Given the description of an element on the screen output the (x, y) to click on. 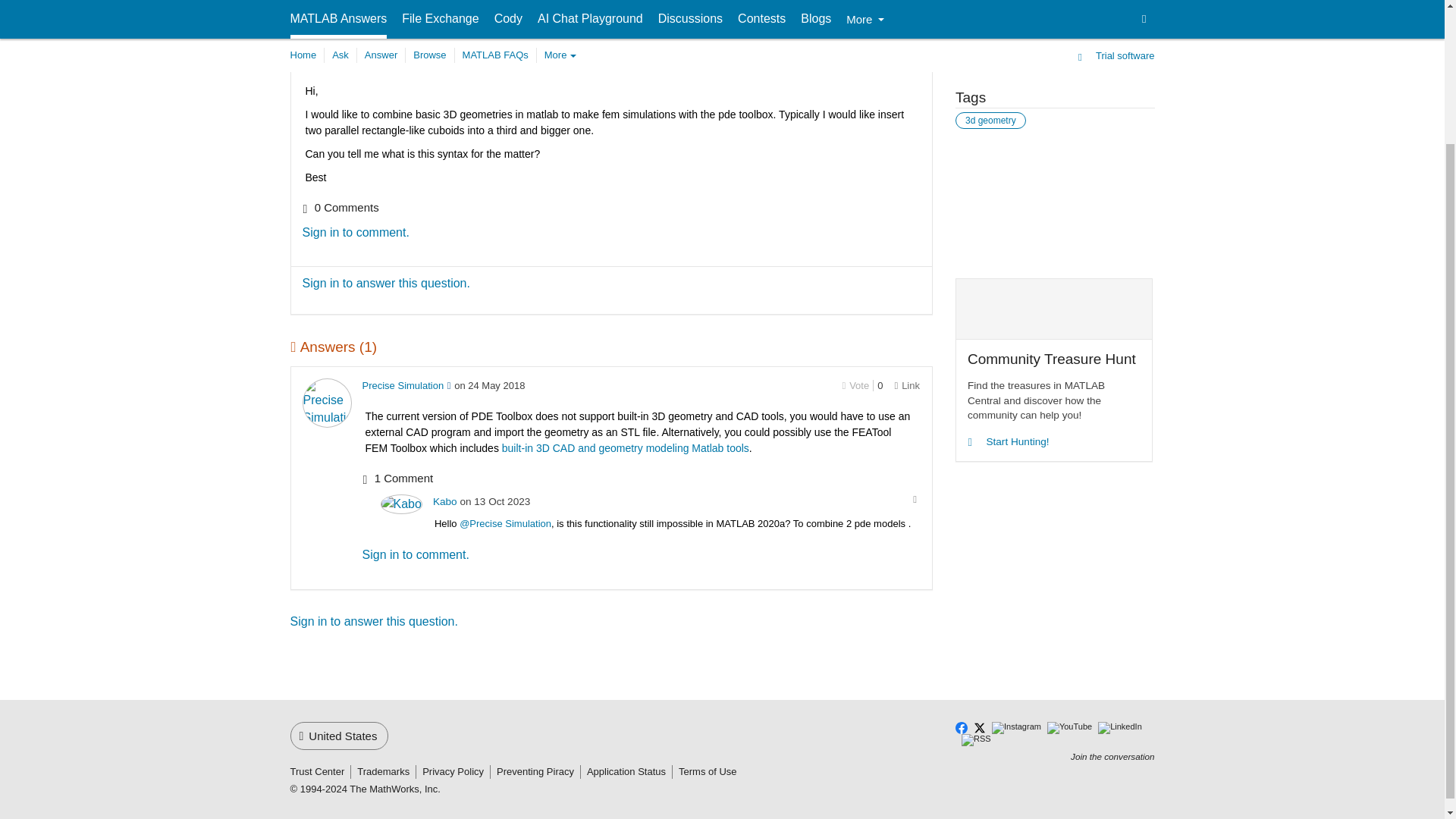
Direct link to this question (906, 25)
Direct link to this answer (906, 385)
Sign in to follow activity (306, 1)
Sign in to vote for questions and answers (855, 385)
Sign in to vote for questions and answers (855, 26)
